Given the description of an element on the screen output the (x, y) to click on. 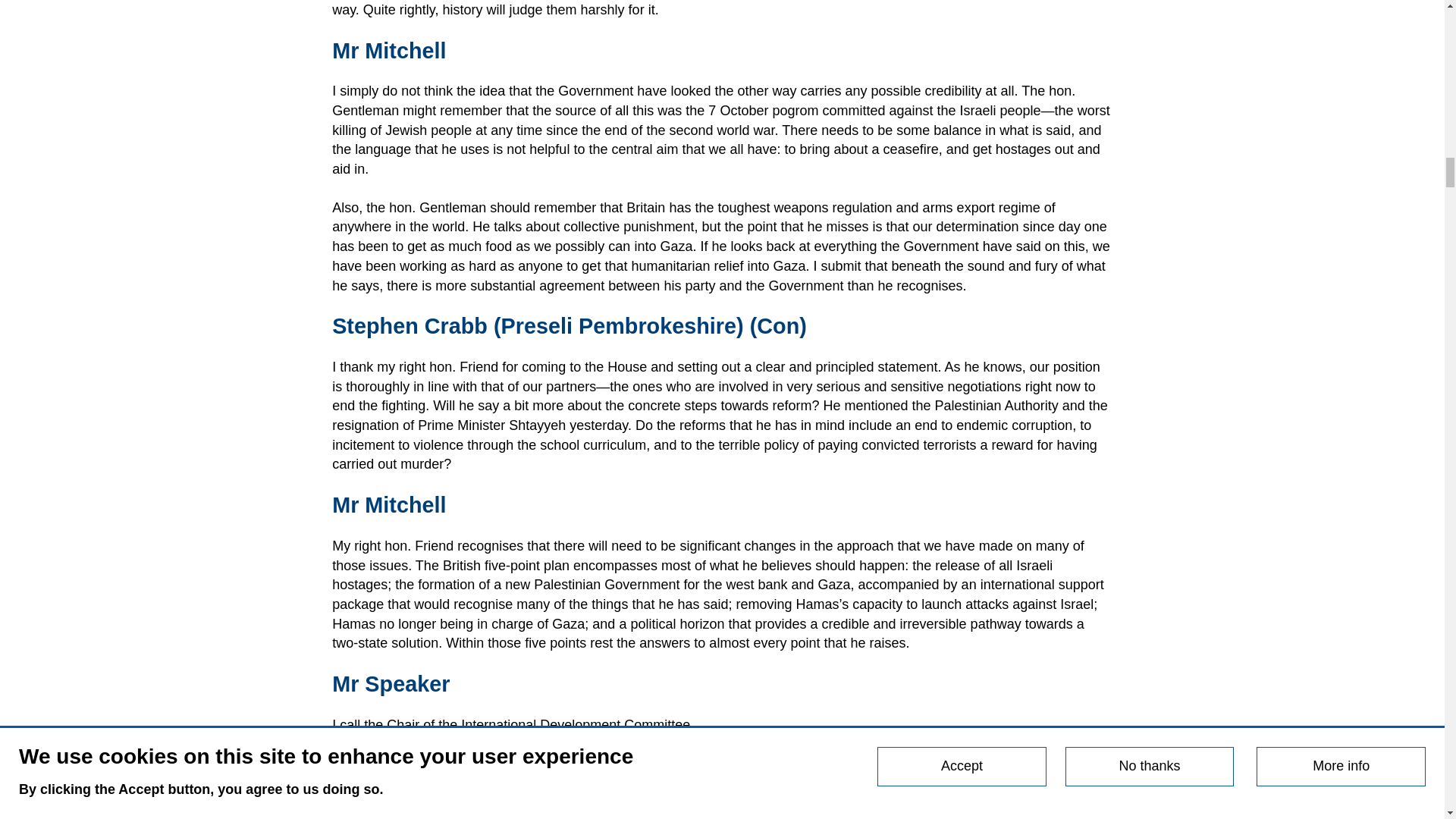
Mr Mitchell  (391, 50)
Mr Mitchell  (391, 504)
Mr Speaker  (393, 683)
